Given the description of an element on the screen output the (x, y) to click on. 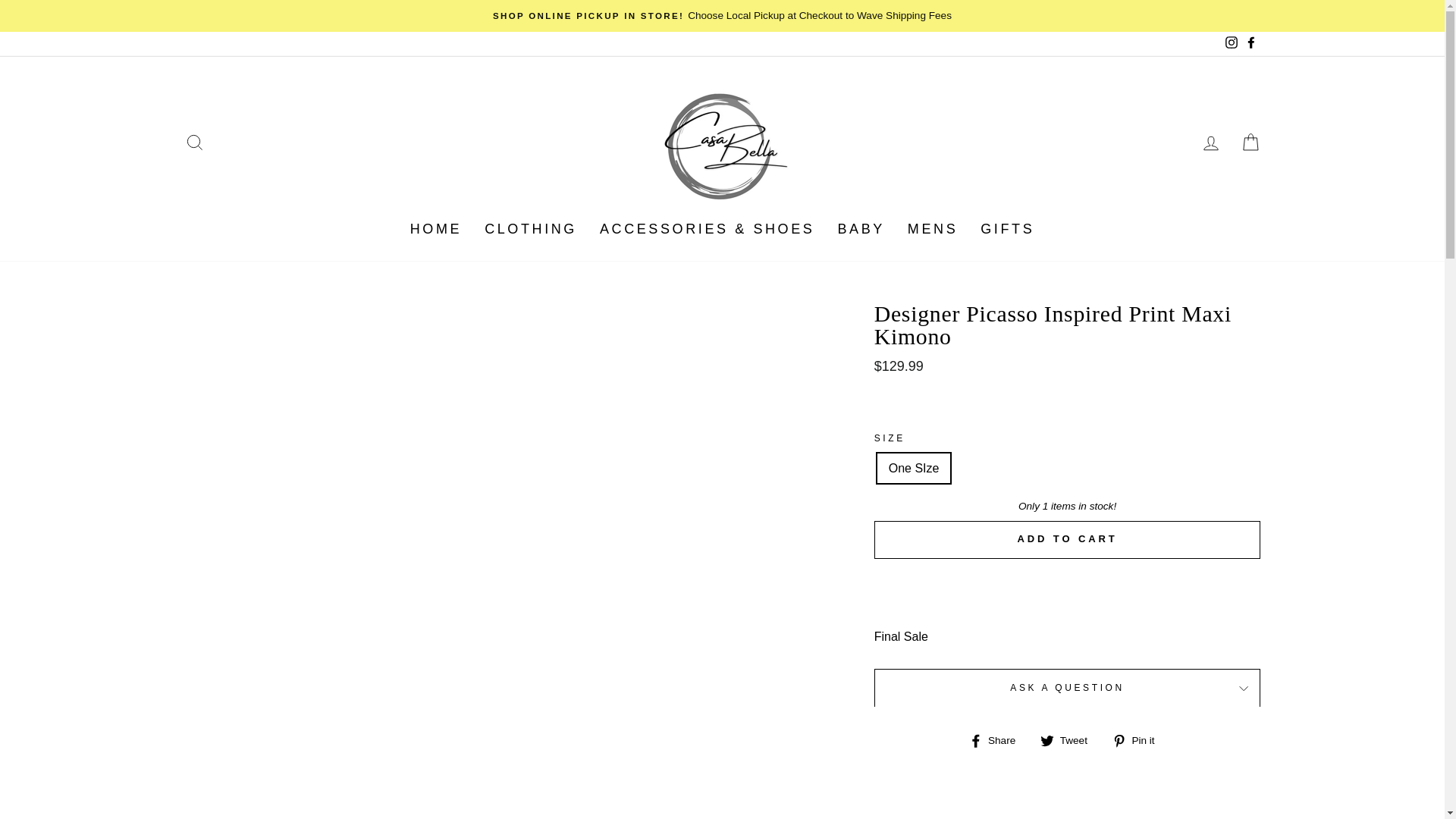
Pin on Pinterest (1139, 740)
Casa Bella Gifts on Instagram (1230, 43)
Instagram (1230, 43)
Share on Facebook (998, 740)
Casa Bella Gifts on Facebook (1250, 43)
Facebook (1250, 43)
Tweet on Twitter (1070, 740)
SEARCH (194, 141)
